Given the description of an element on the screen output the (x, y) to click on. 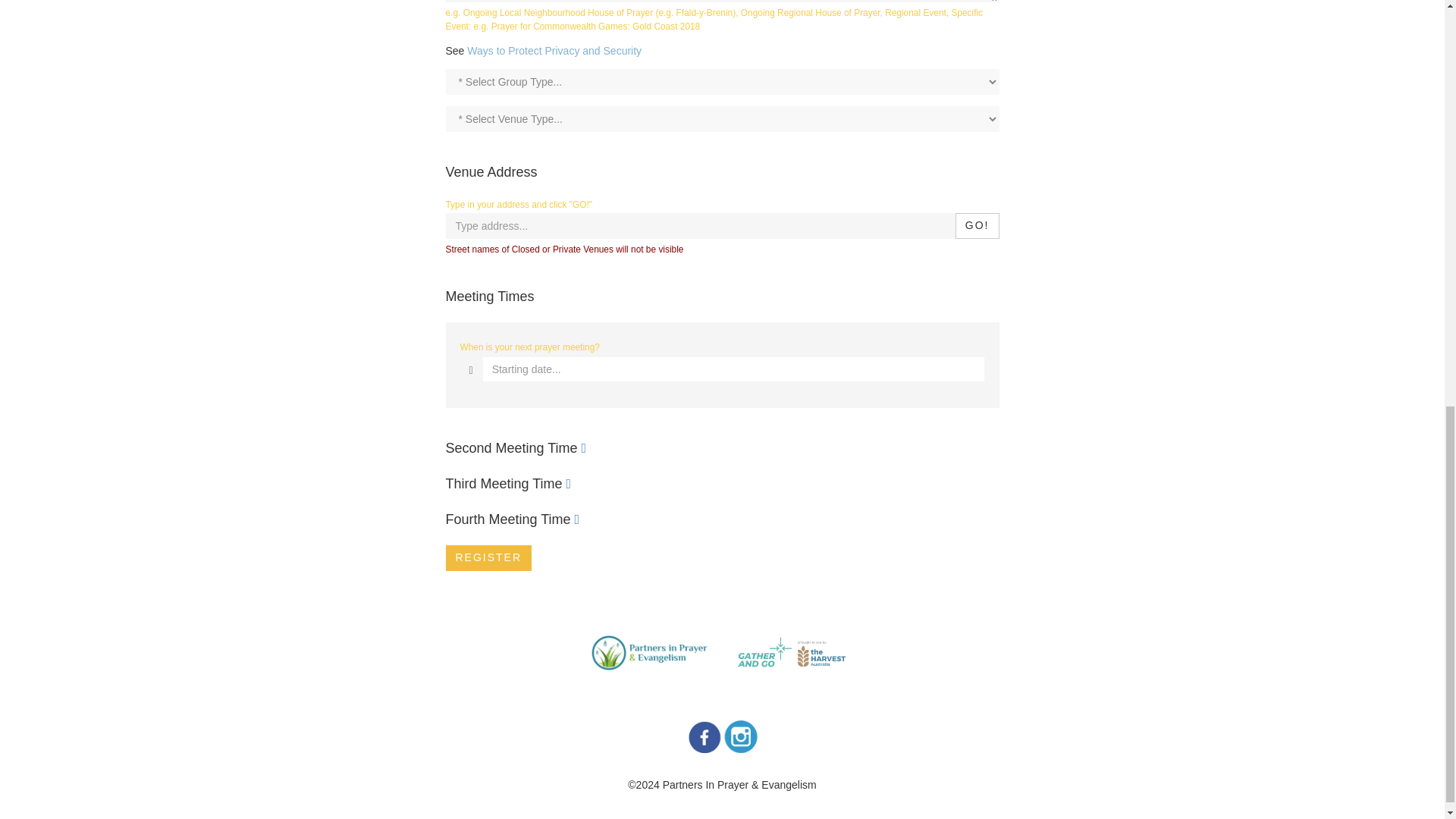
Register (488, 557)
GO! (976, 225)
Ways to Protect Privacy and Security (554, 50)
Register (488, 557)
